Given the description of an element on the screen output the (x, y) to click on. 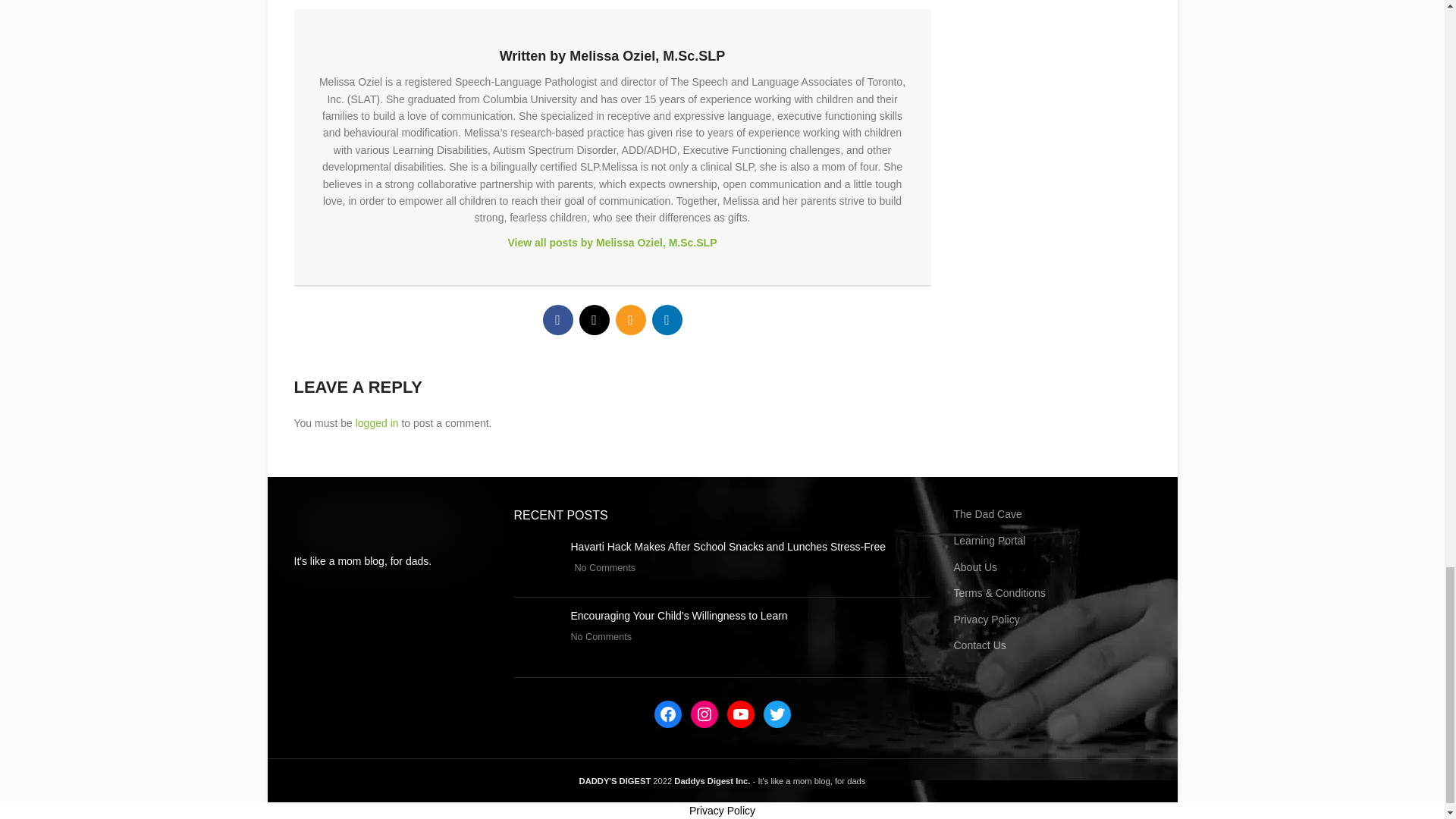
View all posts by Melissa Oziel, M.Sc.SLP (612, 242)
logged in (376, 422)
